Given the description of an element on the screen output the (x, y) to click on. 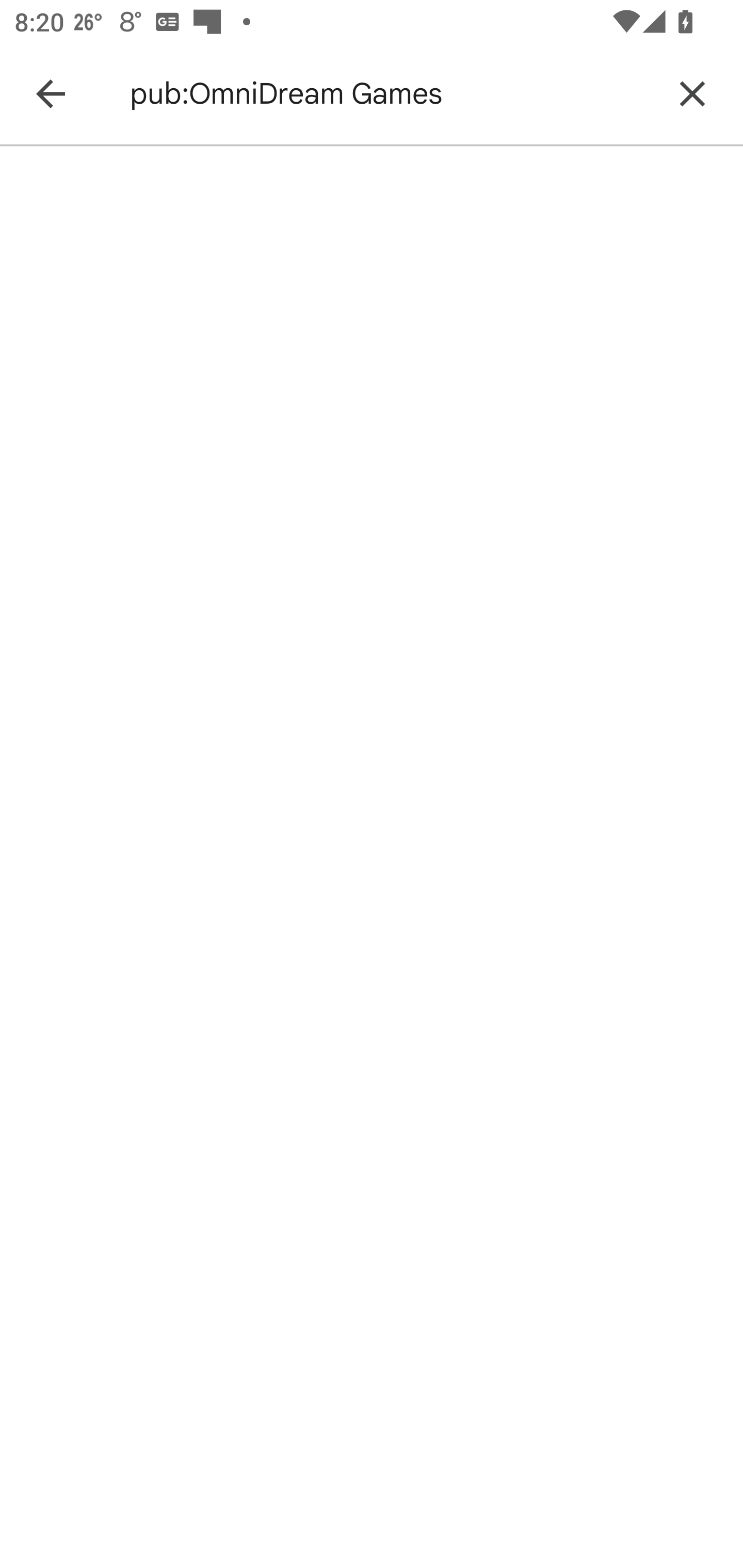
Navigate up (50, 93)
pub:OmniDream Games (389, 93)
Clear (692, 93)
